Given the description of an element on the screen output the (x, y) to click on. 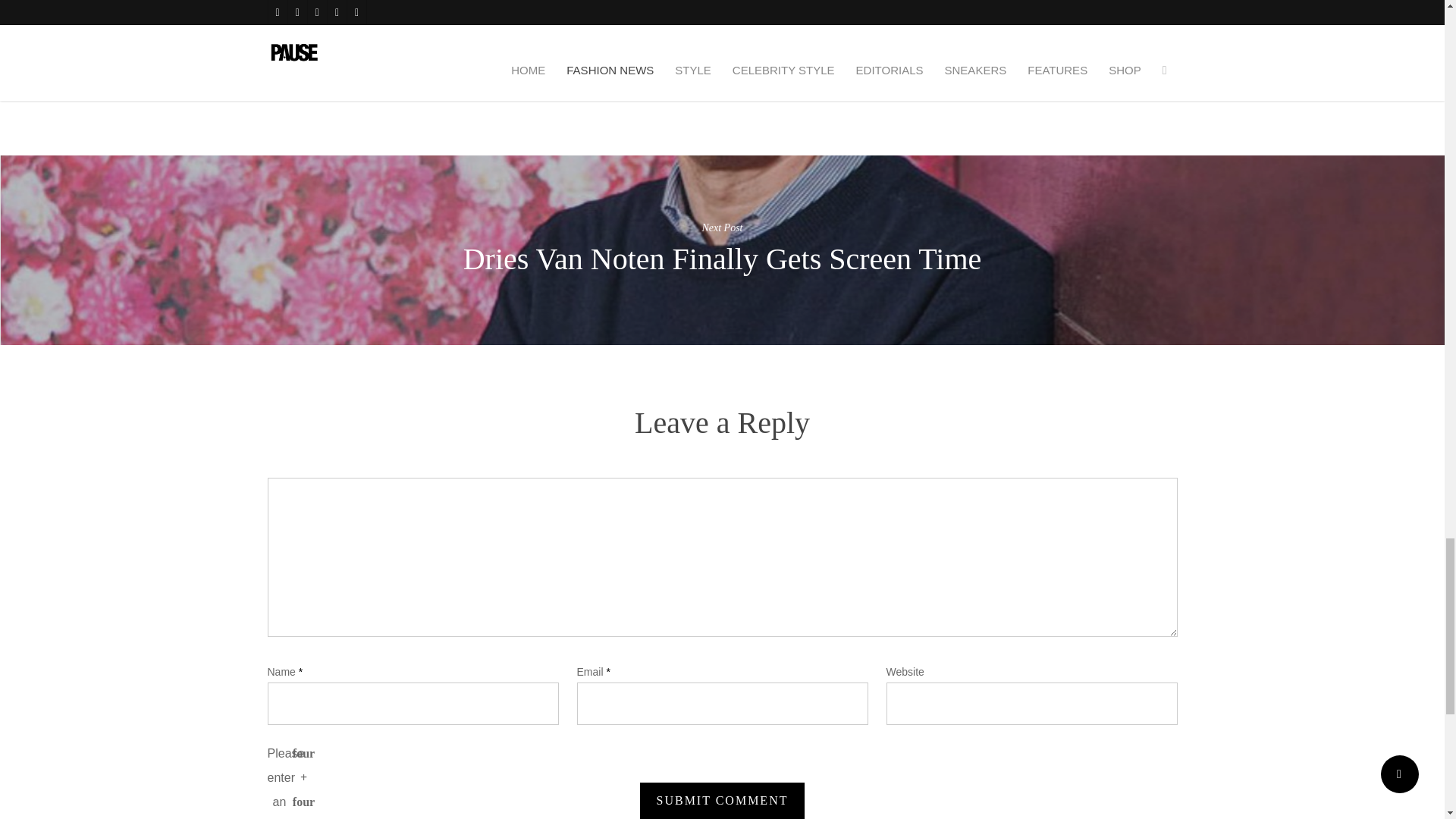
Submit Comment (722, 800)
